Given the description of an element on the screen output the (x, y) to click on. 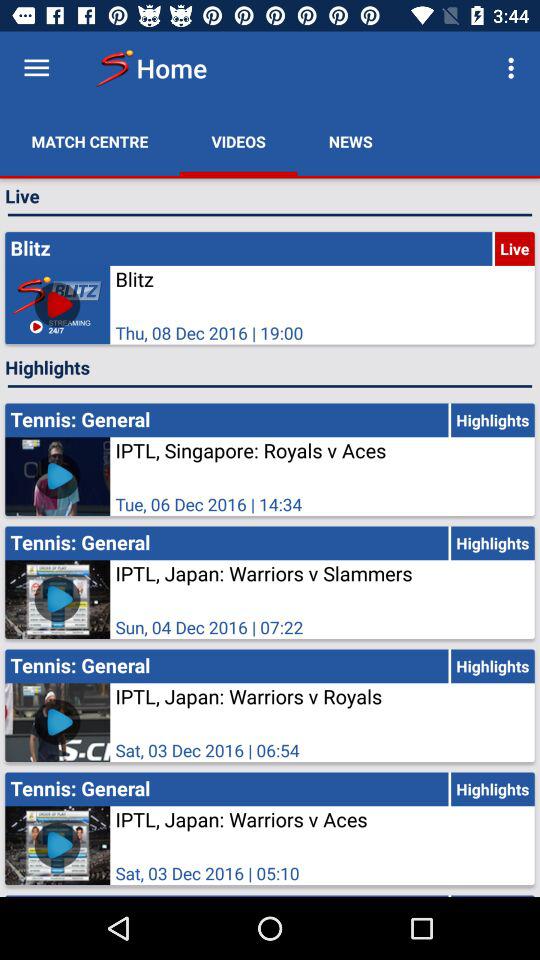
select the icon below the home icon (238, 141)
